Given the description of an element on the screen output the (x, y) to click on. 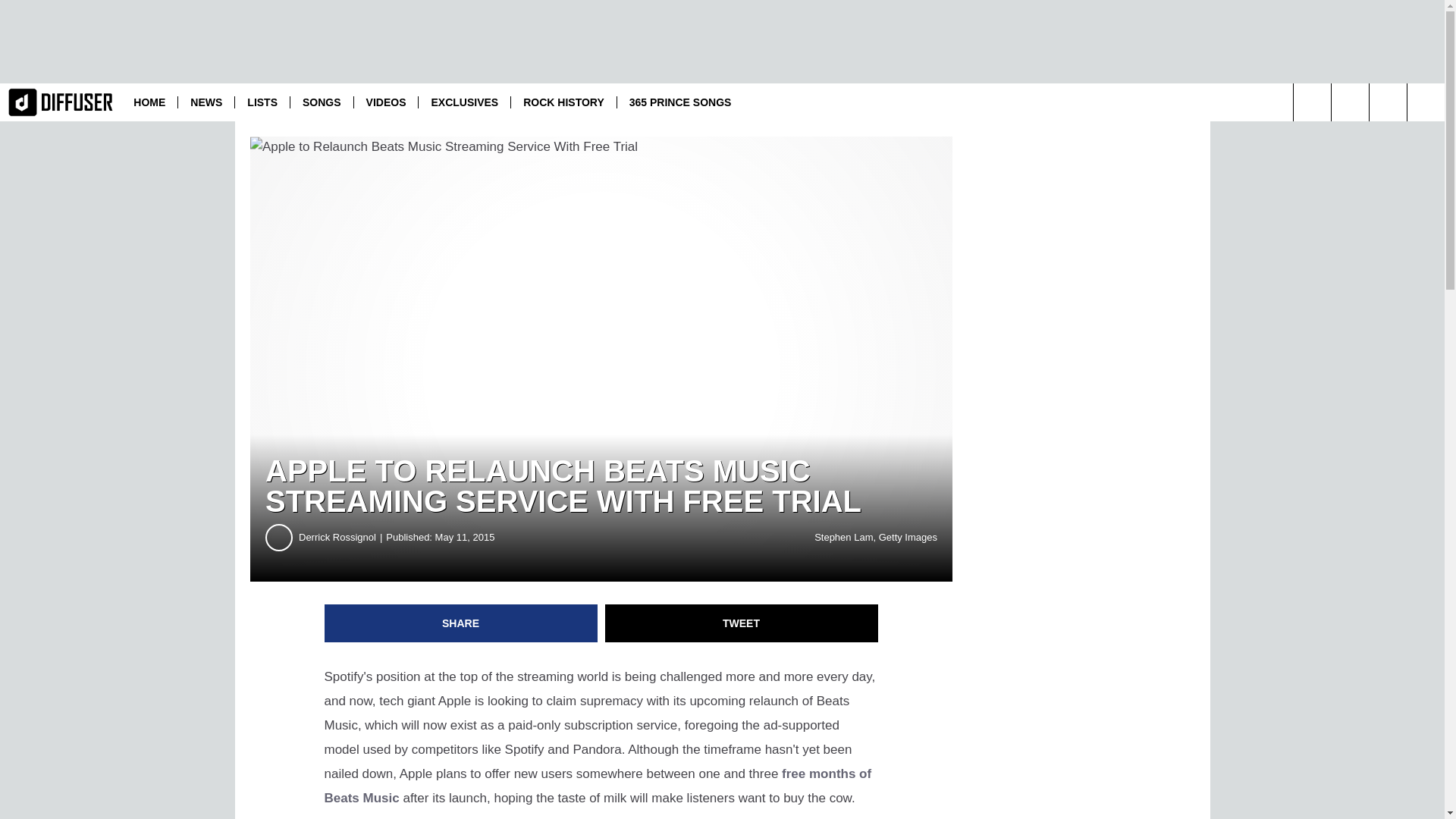
Visit us on Youtube (1350, 102)
SONGS (321, 102)
TWEET (741, 623)
365 PRINCE SONGS (679, 102)
VIDEOS (386, 102)
ROCK HISTORY (563, 102)
SHARE (460, 623)
EXCLUSIVES (464, 102)
NEWS (205, 102)
SHARE (460, 623)
HOME (148, 102)
Derrick Rossignol (341, 537)
TWEET (741, 623)
free months of Beats Music (598, 785)
LISTS (261, 102)
